Given the description of an element on the screen output the (x, y) to click on. 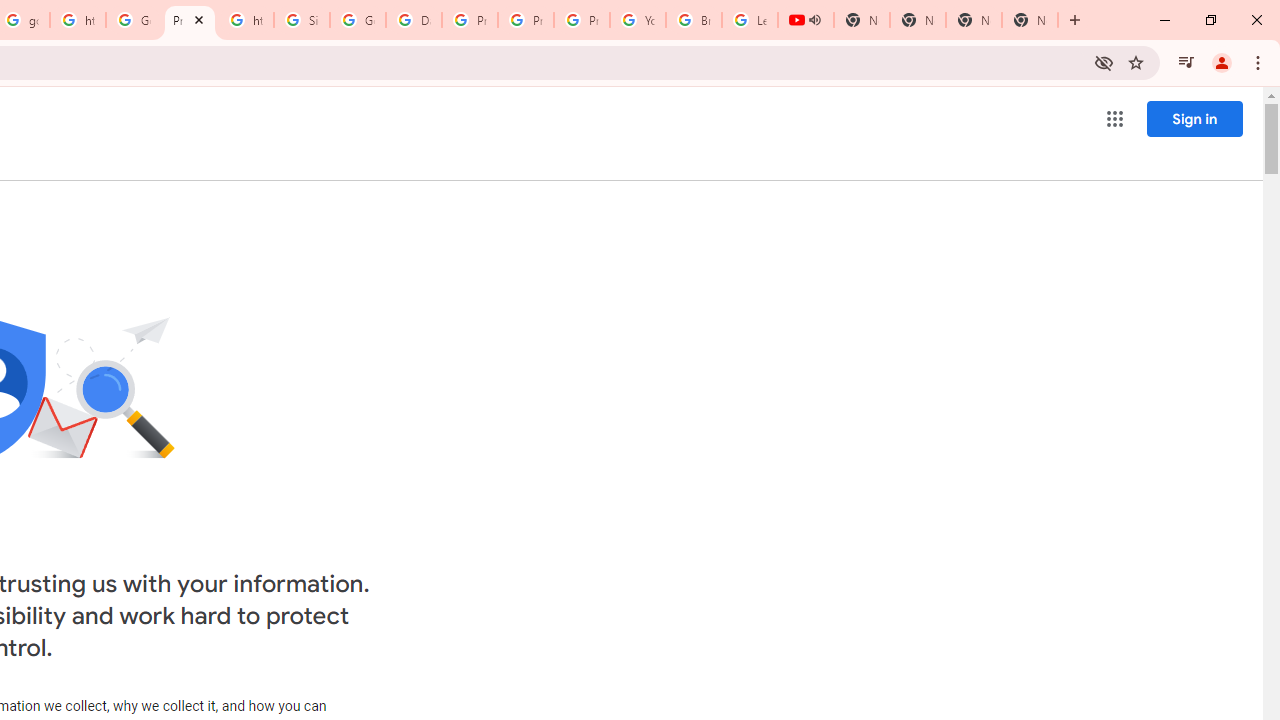
New Tab (1030, 20)
Browse Chrome as a guest - Computer - Google Chrome Help (693, 20)
https://scholar.google.com/ (77, 20)
YouTube (637, 20)
Privacy Help Center - Policies Help (469, 20)
Sign in - Google Accounts (301, 20)
https://scholar.google.com/ (245, 20)
